Given the description of an element on the screen output the (x, y) to click on. 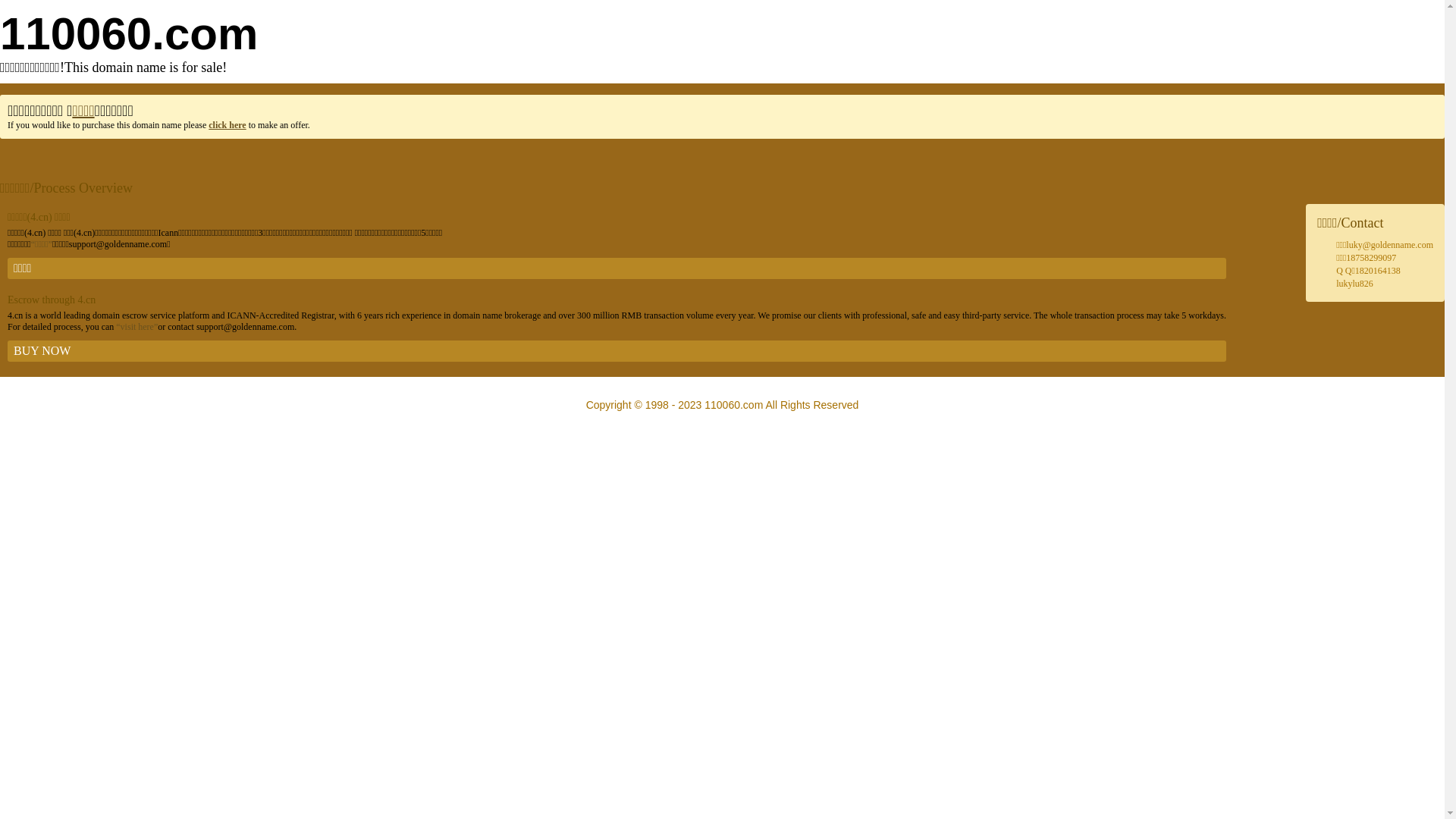
BUY NOW Element type: text (616, 350)
click here Element type: text (226, 124)
